Given the description of an element on the screen output the (x, y) to click on. 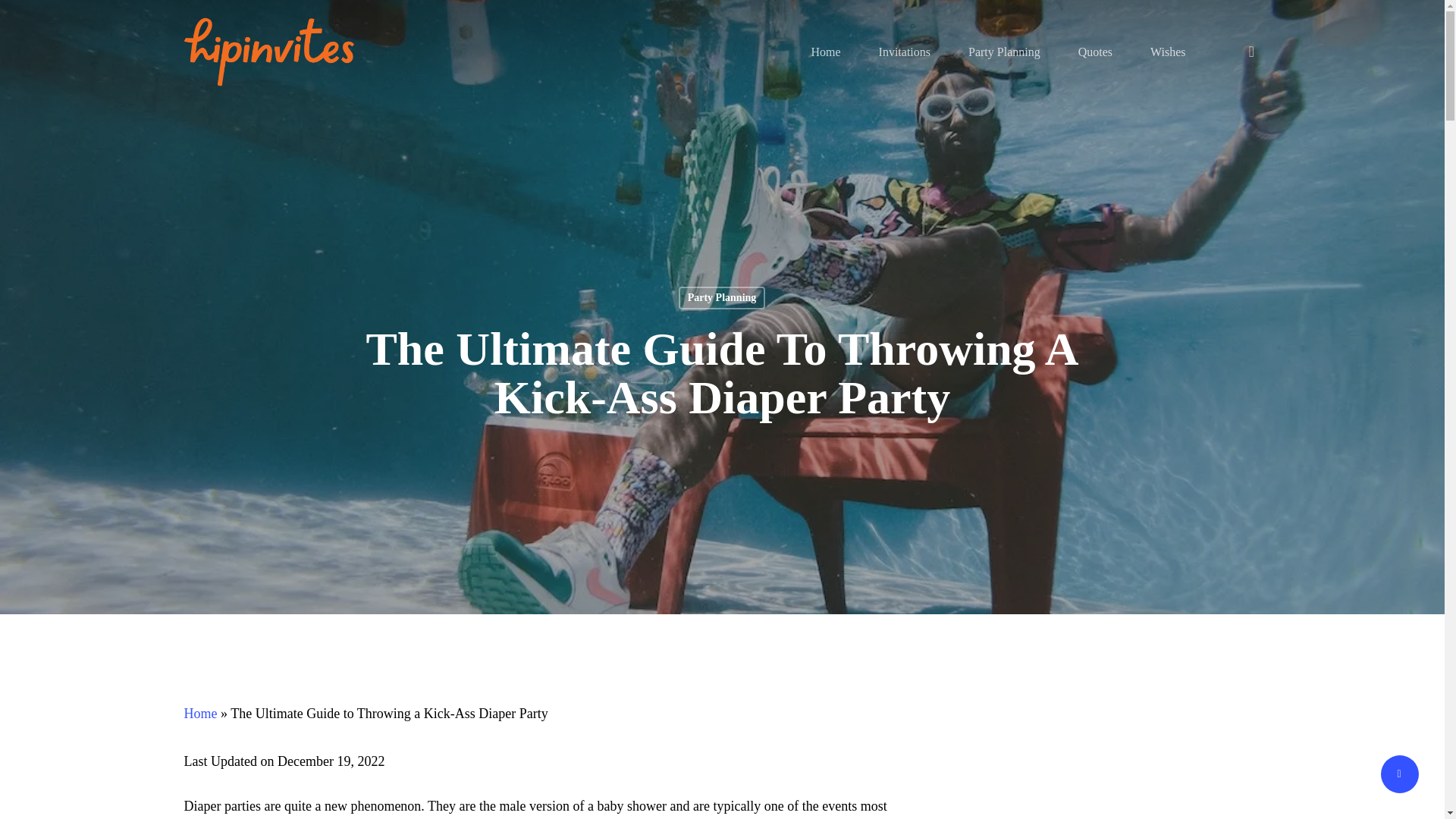
Home (825, 51)
Party Planning (1004, 51)
Invitations (904, 51)
search (1250, 51)
Quotes (1095, 51)
Home (199, 713)
Party Planning (721, 297)
Wishes (1167, 51)
